Given the description of an element on the screen output the (x, y) to click on. 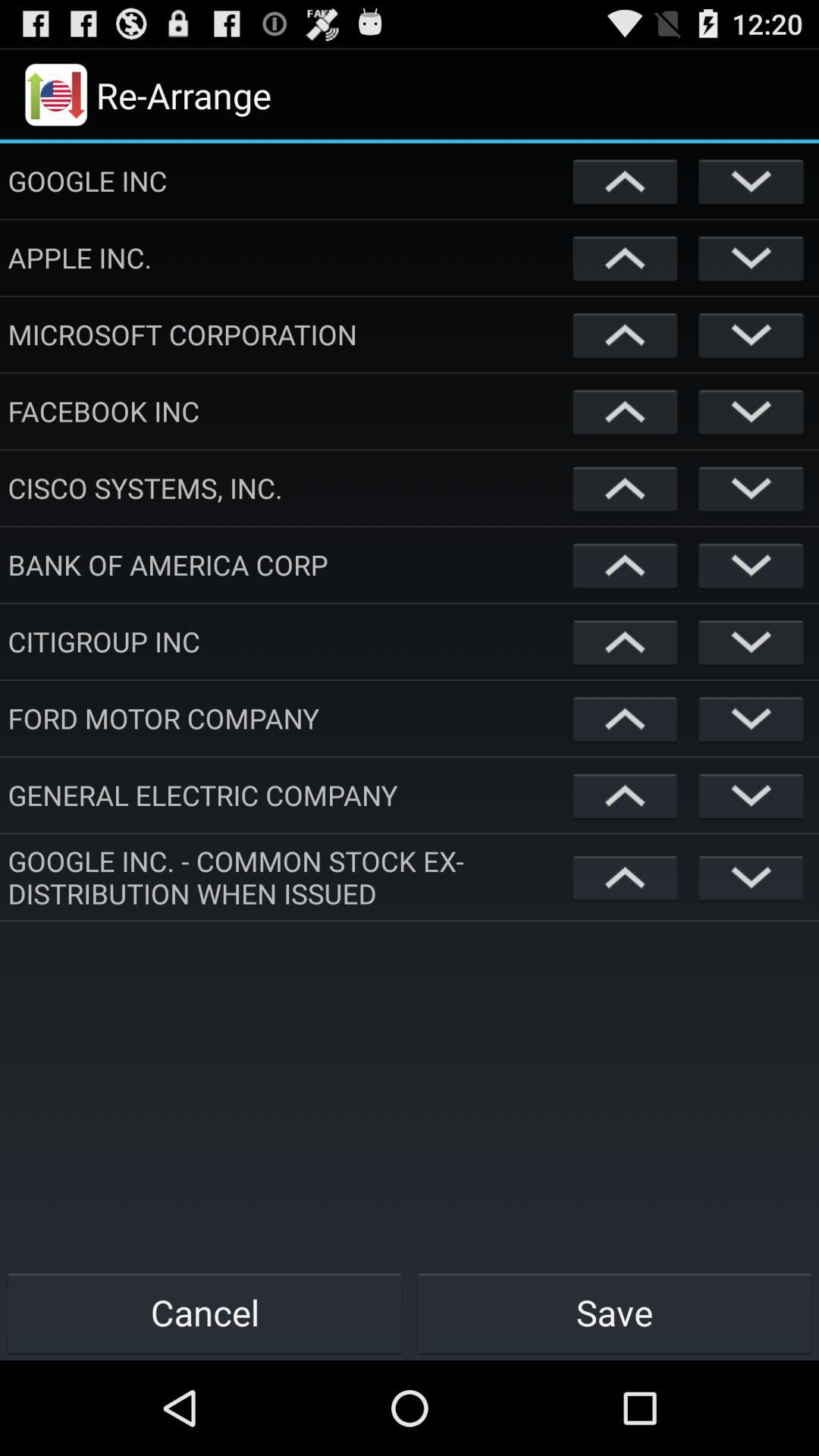
tap the ford motor company item (286, 718)
